Given the description of an element on the screen output the (x, y) to click on. 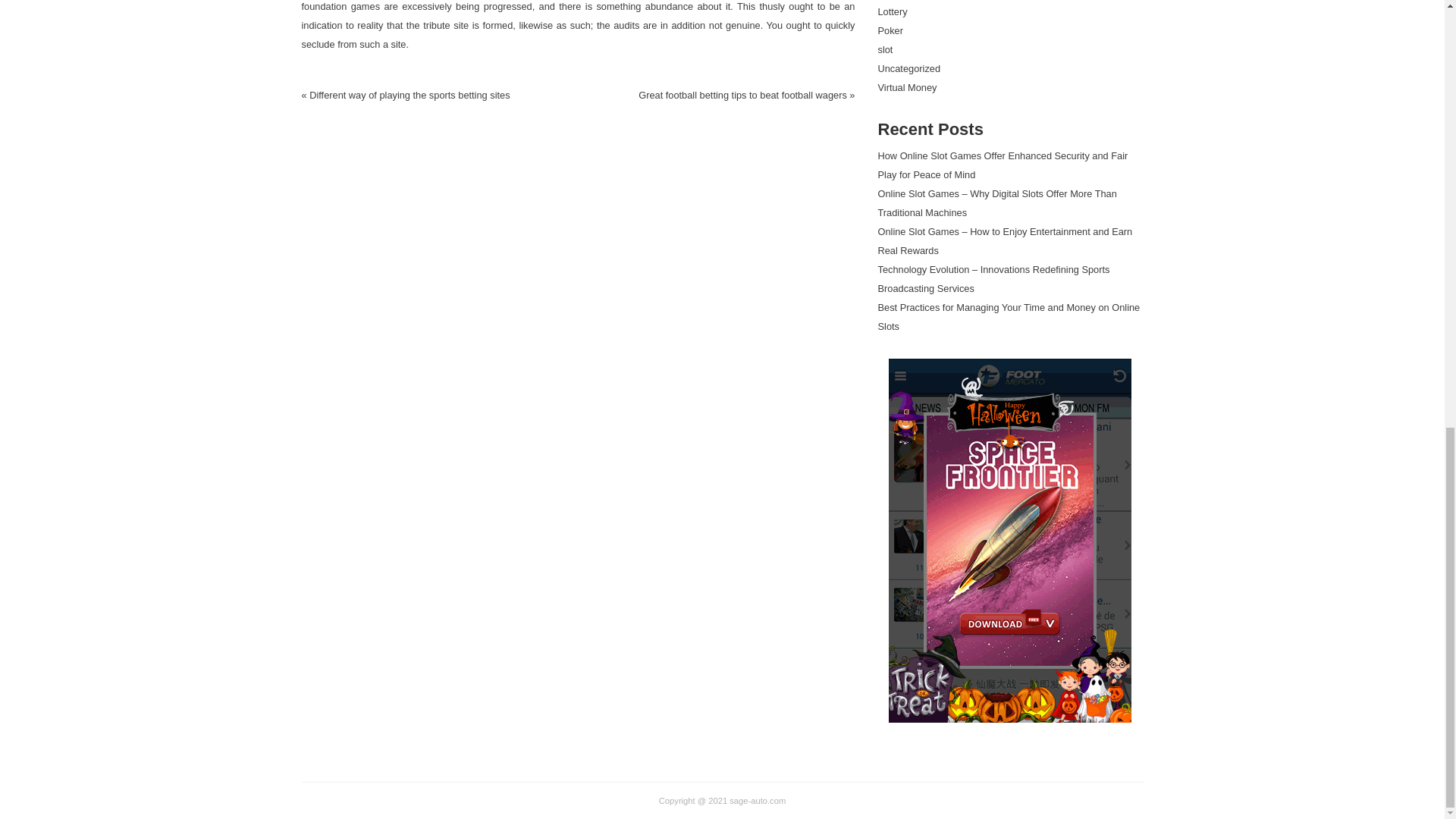
Great football betting tips to beat football wagers (743, 94)
Poker (889, 30)
slot (885, 49)
Different way of playing the sports betting sites (408, 94)
Virtual Money (907, 87)
Lottery (892, 11)
Uncategorized (908, 68)
